Given the description of an element on the screen output the (x, y) to click on. 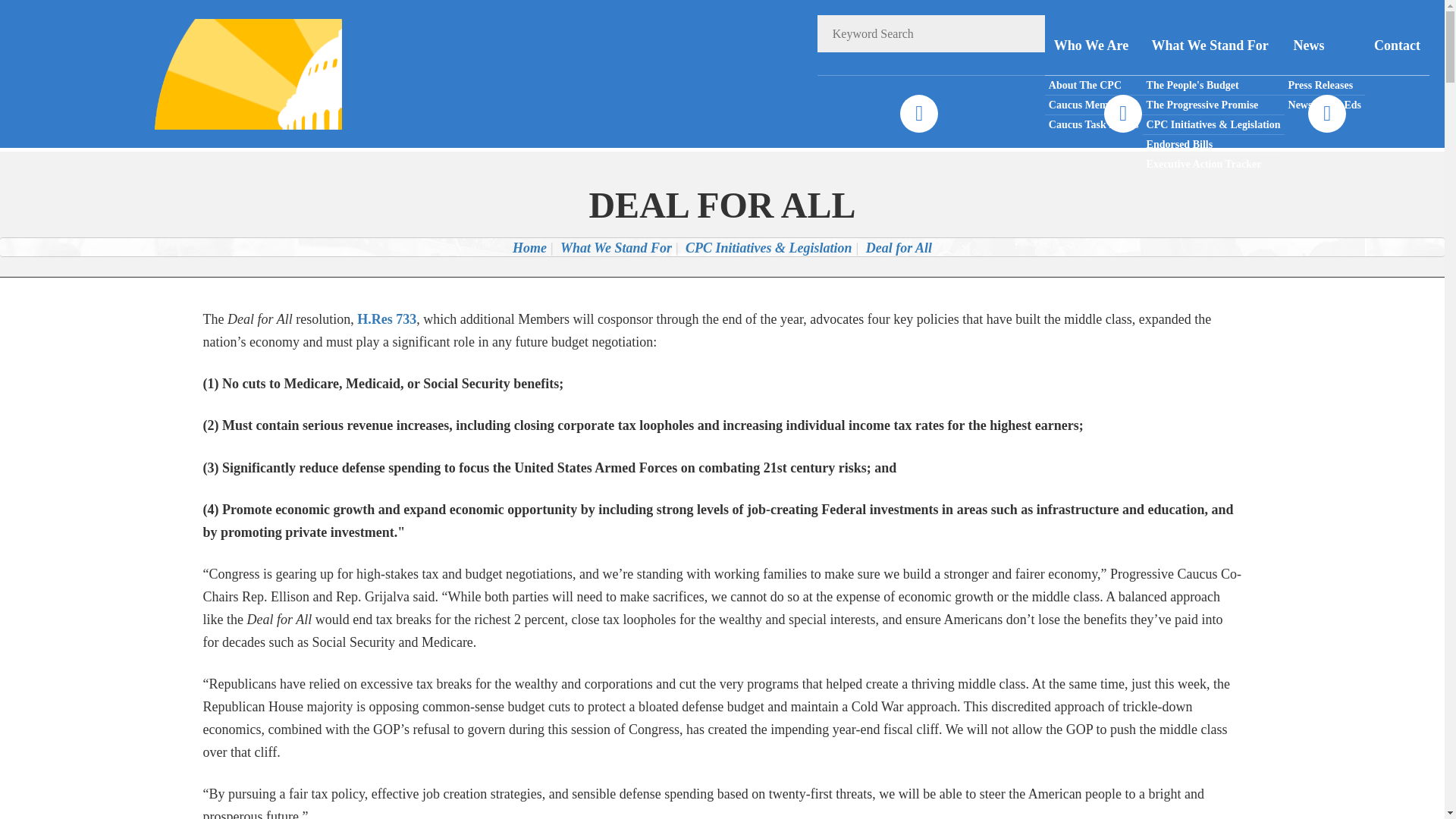
What We Stand For (1213, 45)
Executive Action Tracker (1213, 163)
Caucus Members (1093, 105)
Press Releases (1324, 85)
Home (529, 247)
Endorsed Bills (1213, 144)
Caucus Task Forces (1093, 124)
Twitter (1122, 113)
What We Stand For (615, 247)
Facebook (918, 113)
